Given the description of an element on the screen output the (x, y) to click on. 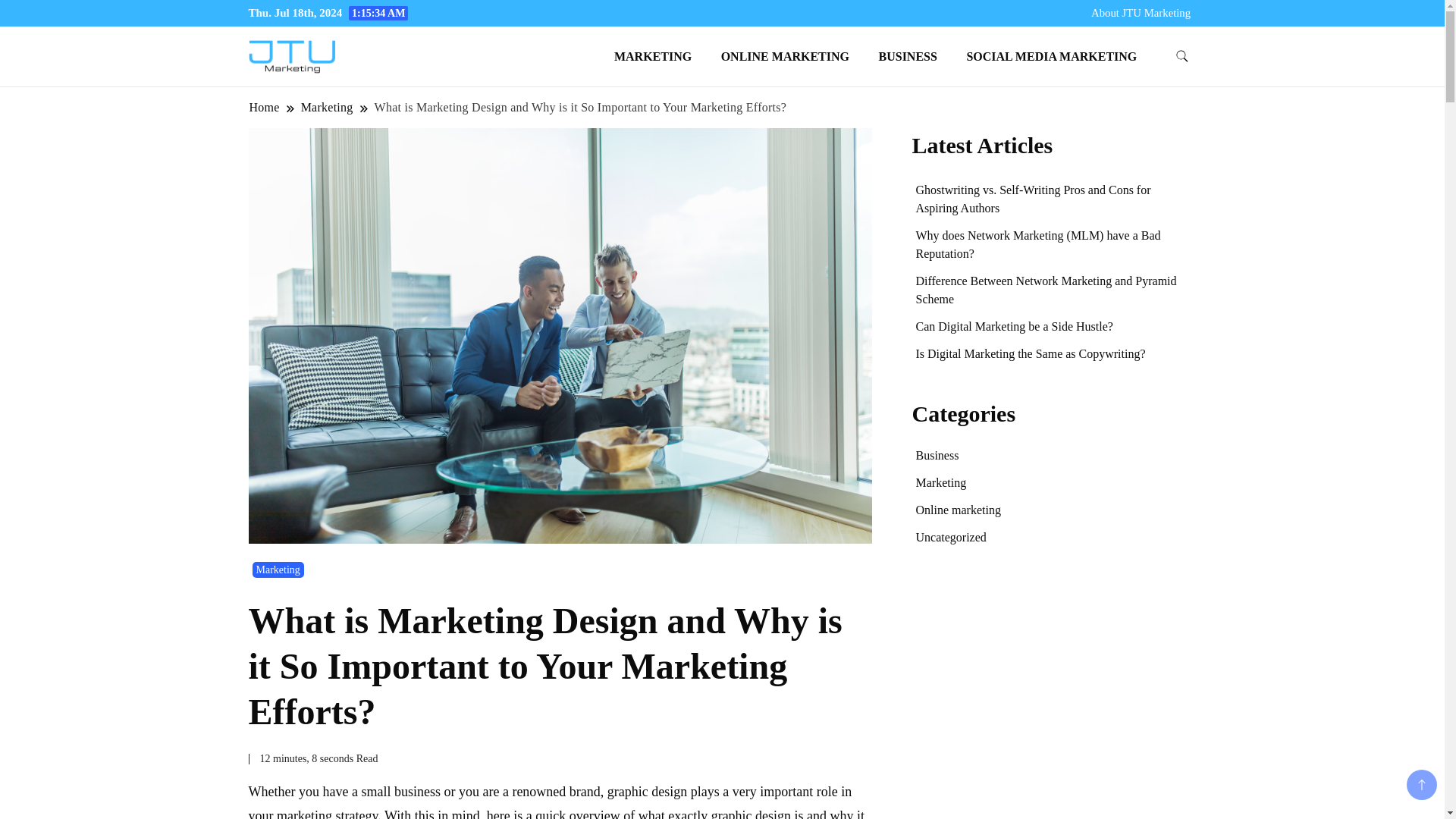
About JTU Marketing (1140, 12)
SOCIAL MEDIA MARKETING (1051, 56)
MARKETING (652, 56)
jtumarketing (393, 74)
marketing strategy (326, 813)
BUSINESS (908, 56)
Marketing (326, 106)
Home (264, 106)
Marketing (276, 569)
ONLINE MARKETING (784, 56)
